Given the description of an element on the screen output the (x, y) to click on. 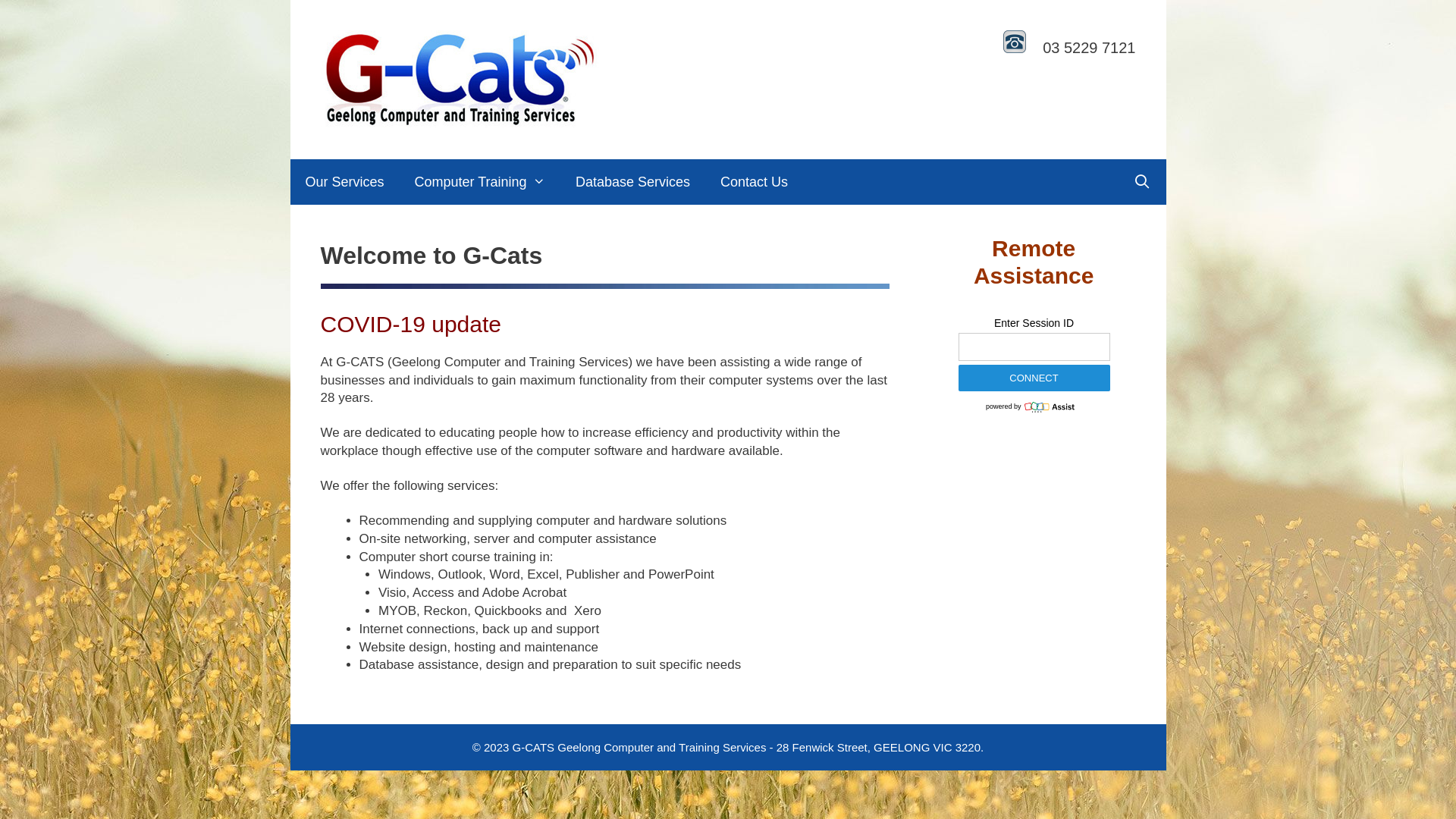
Database Services Element type: text (632, 181)
COVID-19 update Element type: text (410, 323)
Our Services Element type: text (343, 181)
Contact Us Element type: text (754, 181)
Computer Training Element type: text (479, 181)
